Given the description of an element on the screen output the (x, y) to click on. 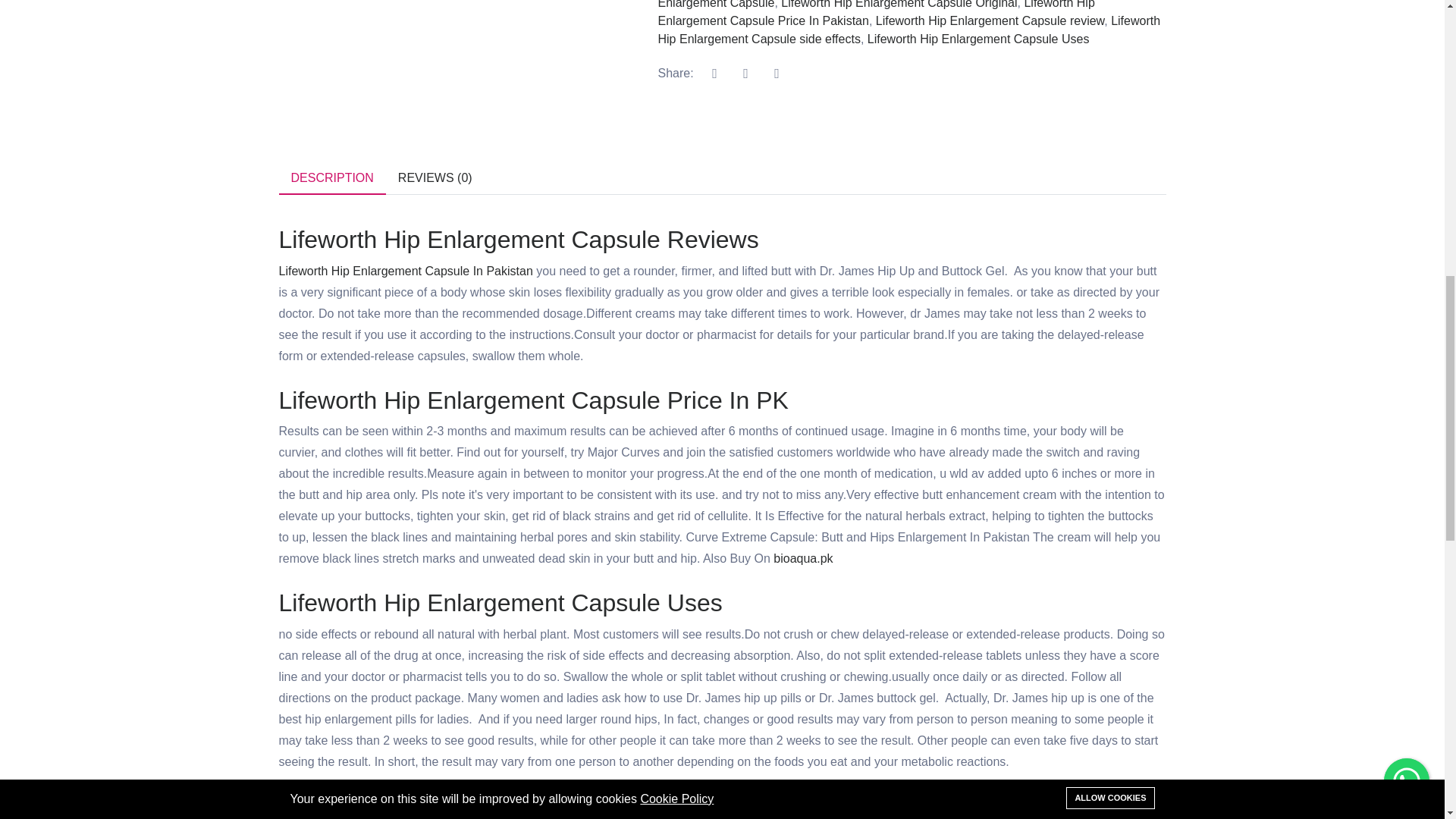
Share on Facebook (715, 72)
Share on Twitter (746, 72)
Share onLinkedin (776, 72)
